Given the description of an element on the screen output the (x, y) to click on. 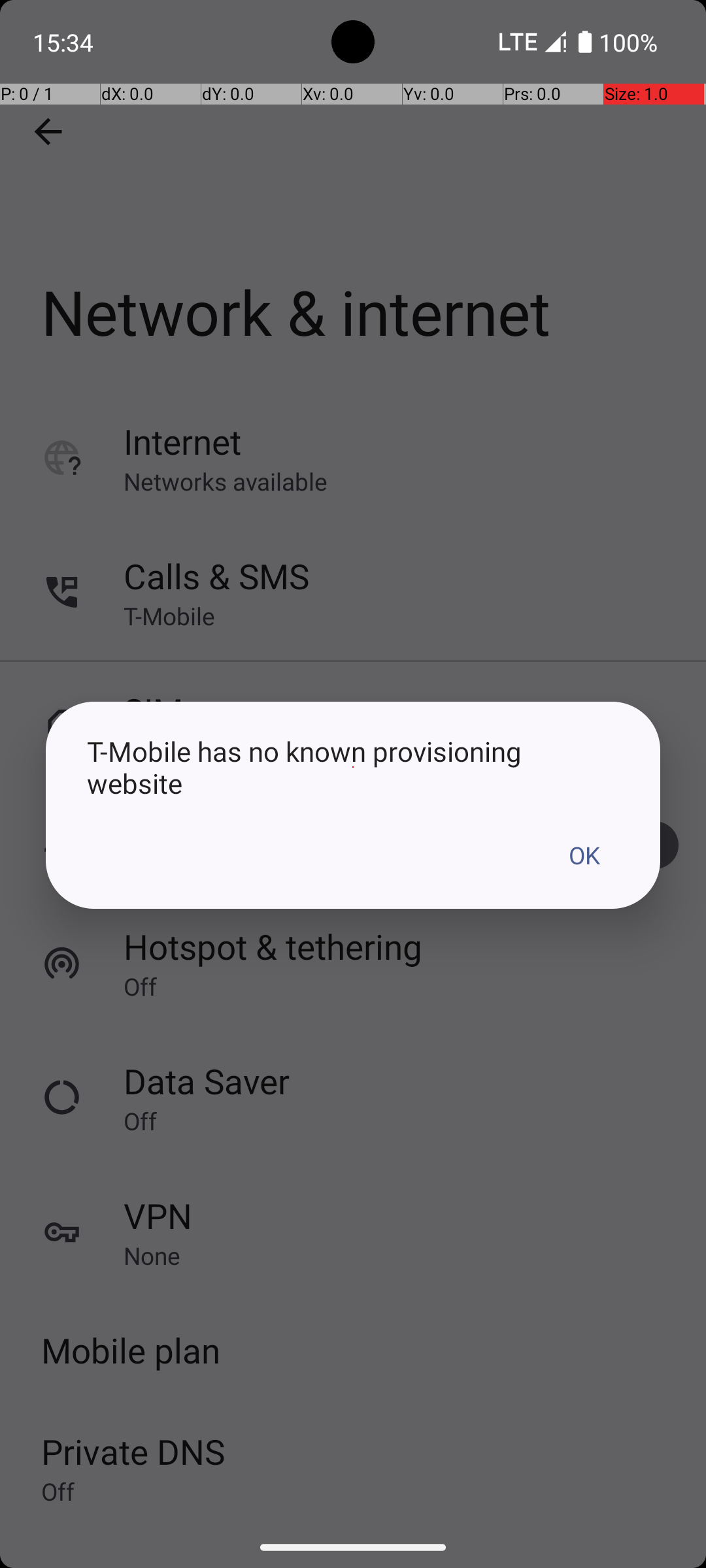
T-Mobile has no known provisioning website Element type: android.widget.TextView (352, 766)
